Given the description of an element on the screen output the (x, y) to click on. 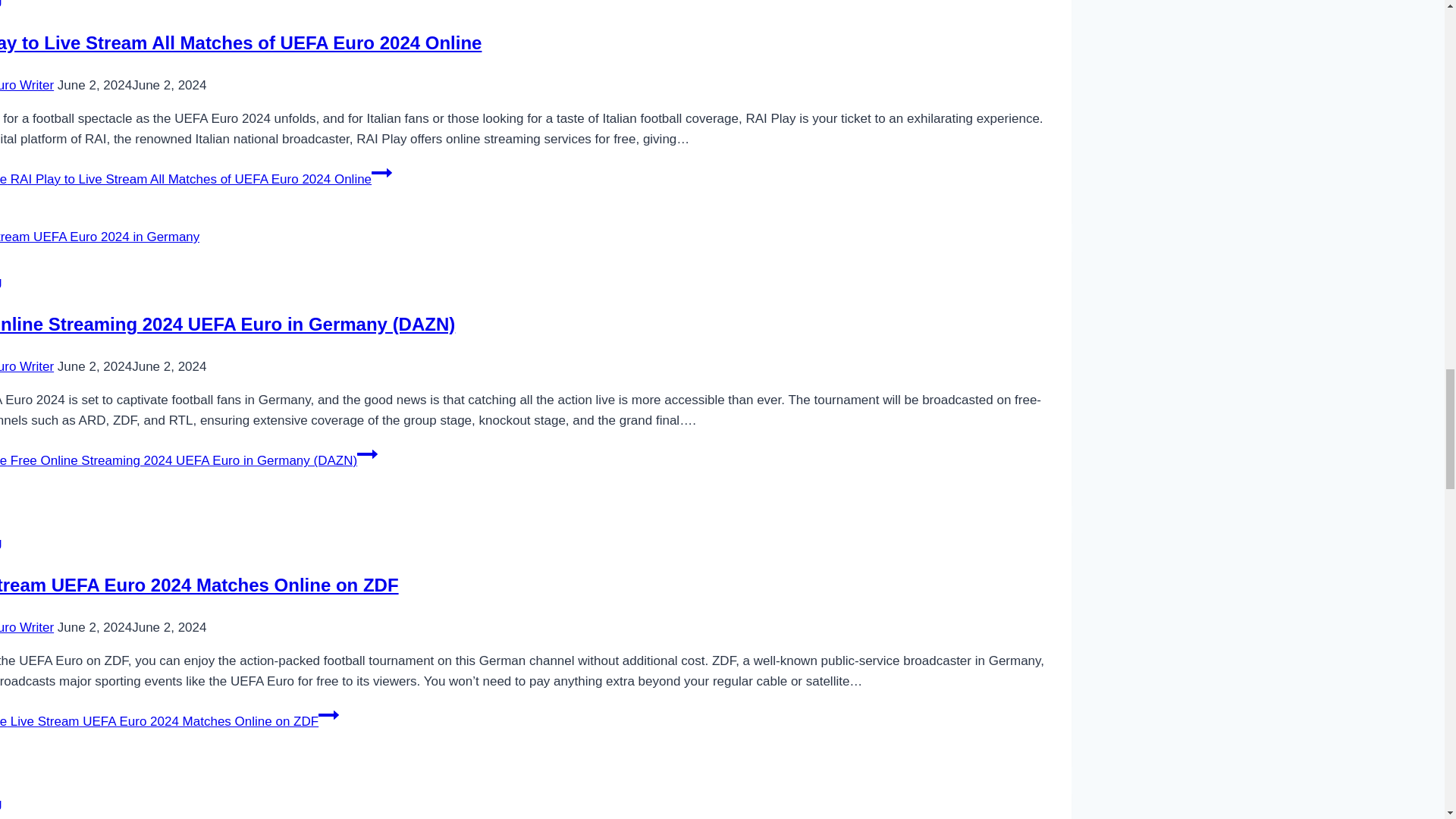
Uefa Euro Writer (26, 626)
Live Stream UEFA Euro 2024 Matches Online on ZDF (199, 584)
Uefa Euro Writer (26, 84)
Uefa Euro Writer (26, 366)
Continue (381, 172)
Continue (328, 714)
Continue (366, 454)
RAI Play to Live Stream All Matches of UEFA Euro 2024 Online (240, 42)
